Given the description of an element on the screen output the (x, y) to click on. 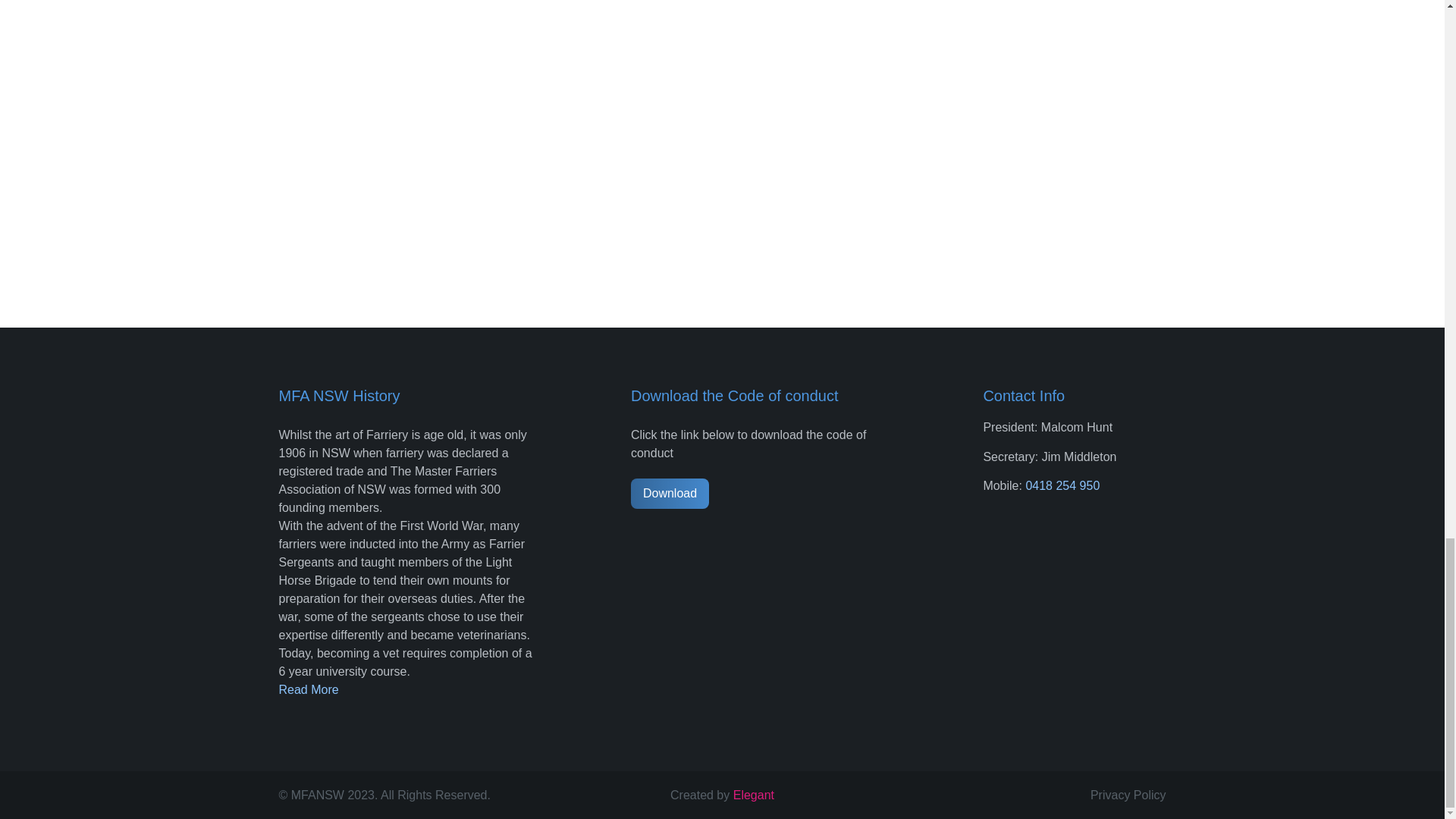
Read More (309, 689)
Created by Elegant (721, 794)
Download (669, 493)
0418 254 950 (1062, 485)
